Given the description of an element on the screen output the (x, y) to click on. 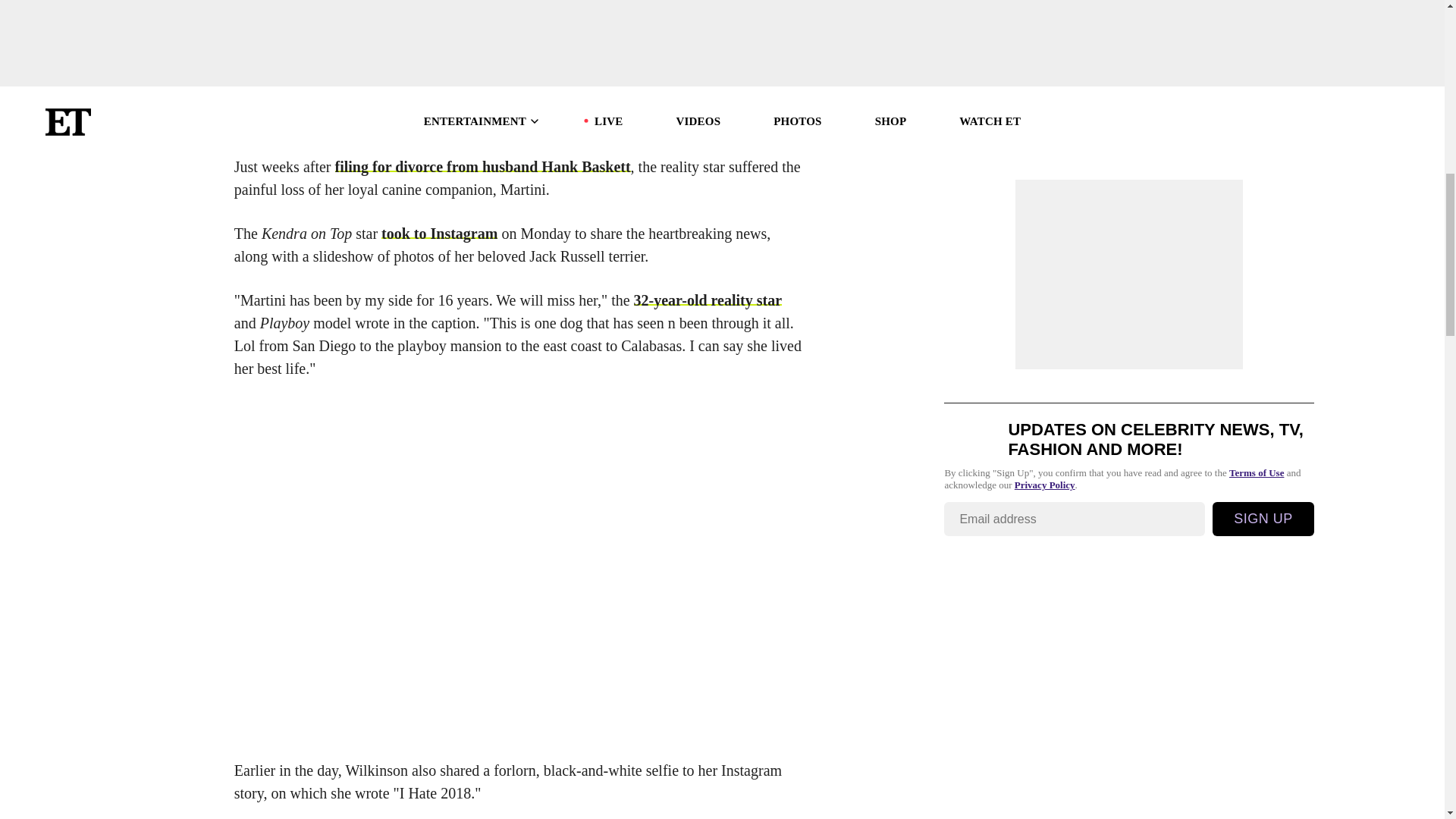
filing for divorce from husband Hank Baskett (482, 166)
took to Instagram (439, 233)
32-year-old reality star (708, 299)
Kendra Wilkinson (293, 122)
